Given the description of an element on the screen output the (x, y) to click on. 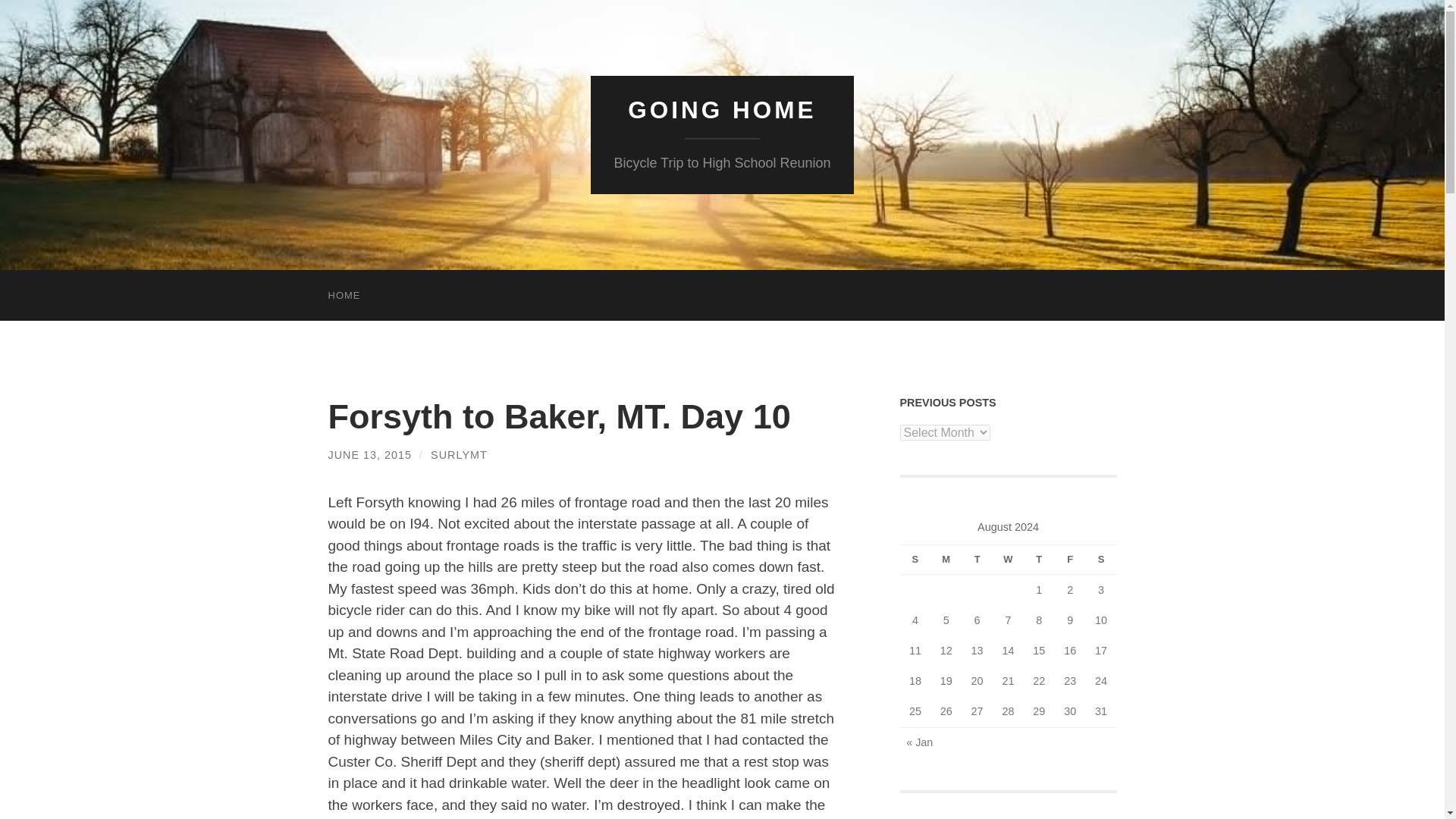
Wednesday (1007, 559)
Sunday (914, 559)
Tuesday (976, 559)
Thursday (1038, 559)
GOING HOME (721, 109)
Saturday (1101, 559)
JUNE 13, 2015 (369, 454)
Posts by surlymt (458, 454)
Friday (1070, 559)
SURLYMT (458, 454)
